Given the description of an element on the screen output the (x, y) to click on. 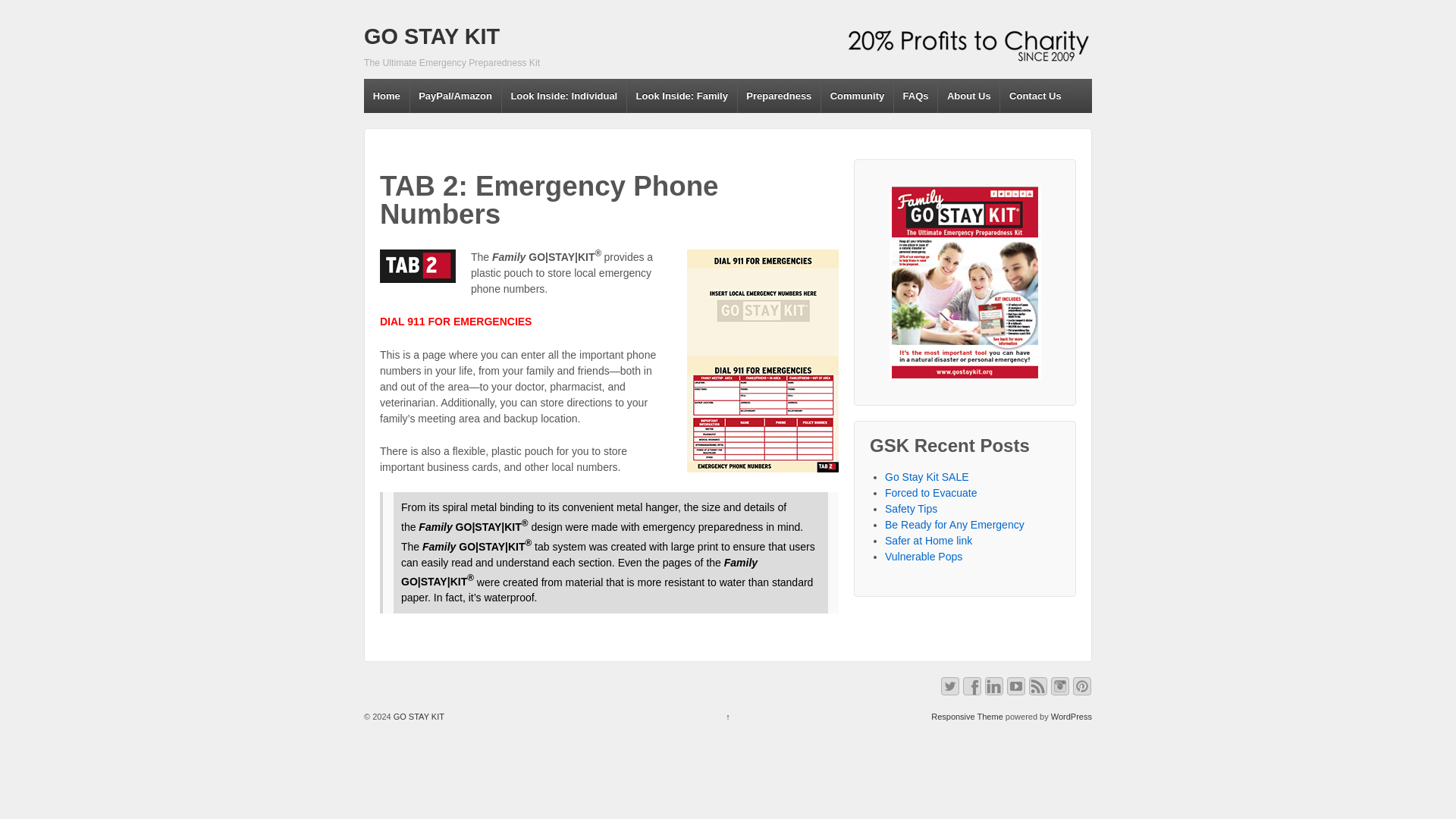
Look Inside: Individual (563, 95)
Home (386, 95)
WordPress (1071, 716)
Look Inside: Family (681, 95)
GO STAY KIT (431, 36)
GO STAY KIT (431, 36)
GO STAY KIT (417, 716)
Community (857, 95)
Preparedness (778, 95)
Responsive Theme (967, 716)
